Given the description of an element on the screen output the (x, y) to click on. 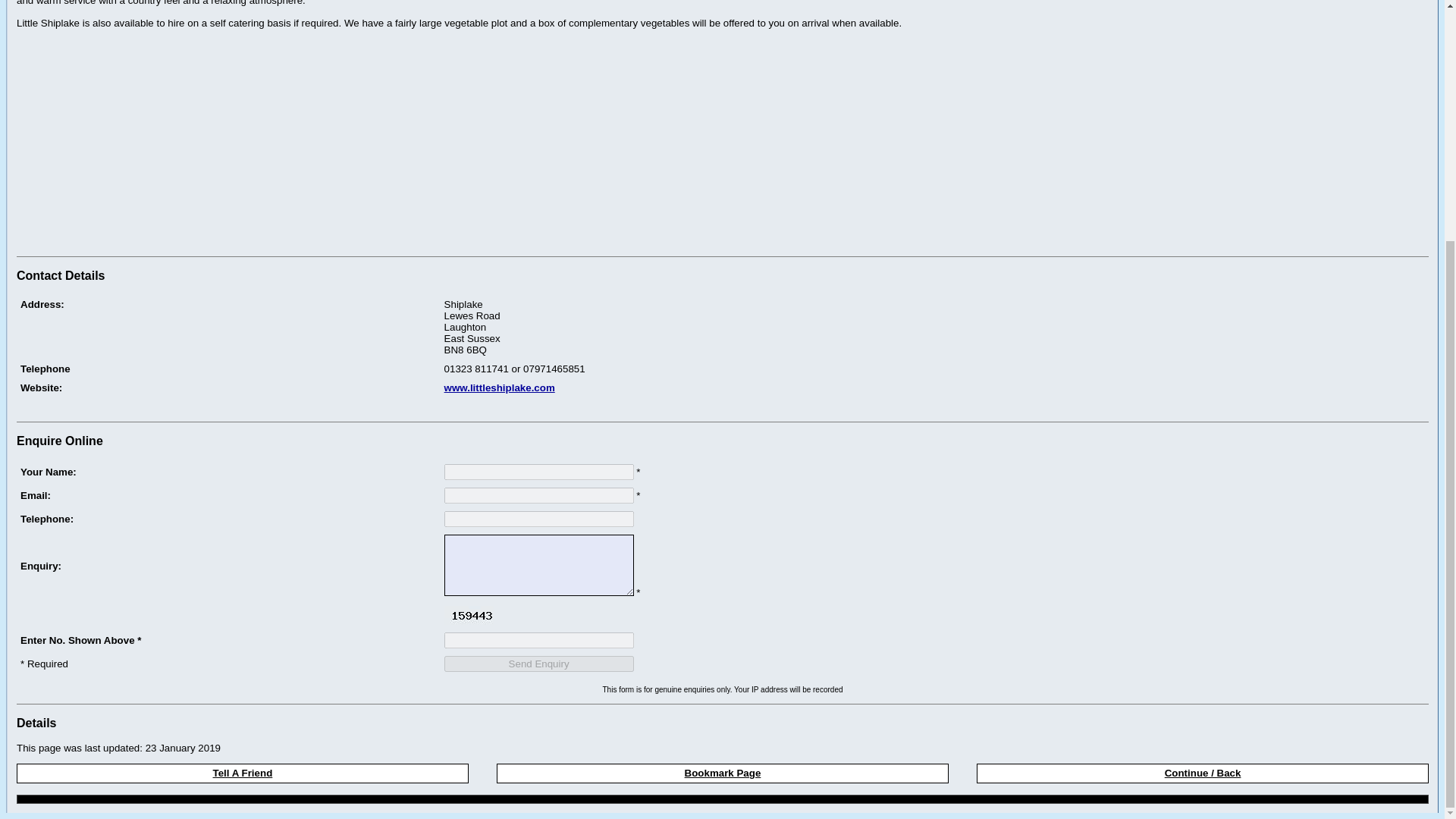
East Sussex Bed and Breakfast (228, 406)
Tell A Friend (242, 772)
Bookmark Page (722, 772)
Little Shiplake (934, 406)
Advertisement (143, 144)
Send Enquiry (538, 662)
www.littleshiplake.com (499, 387)
Send Enquiry (538, 662)
